Given the description of an element on the screen output the (x, y) to click on. 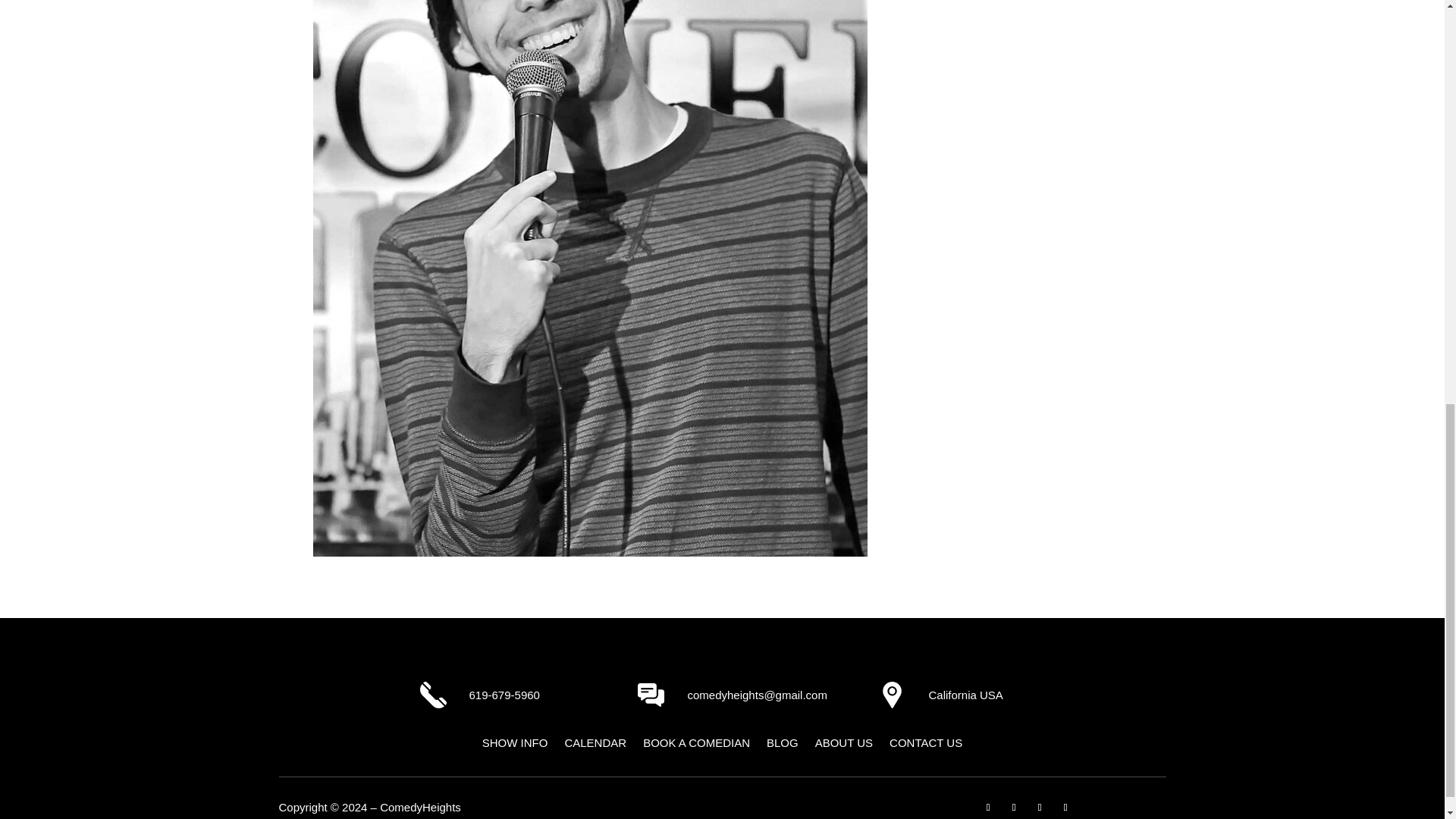
CONTACT US (925, 745)
Follow on Youtube (1039, 807)
BLOG (782, 745)
Follow on Instagram (1013, 807)
CALENDAR (595, 745)
ABOUT US (843, 745)
Follow on X (1065, 807)
BOOK A COMEDIAN (696, 745)
Follow on Facebook (987, 807)
California USA (965, 694)
